Given the description of an element on the screen output the (x, y) to click on. 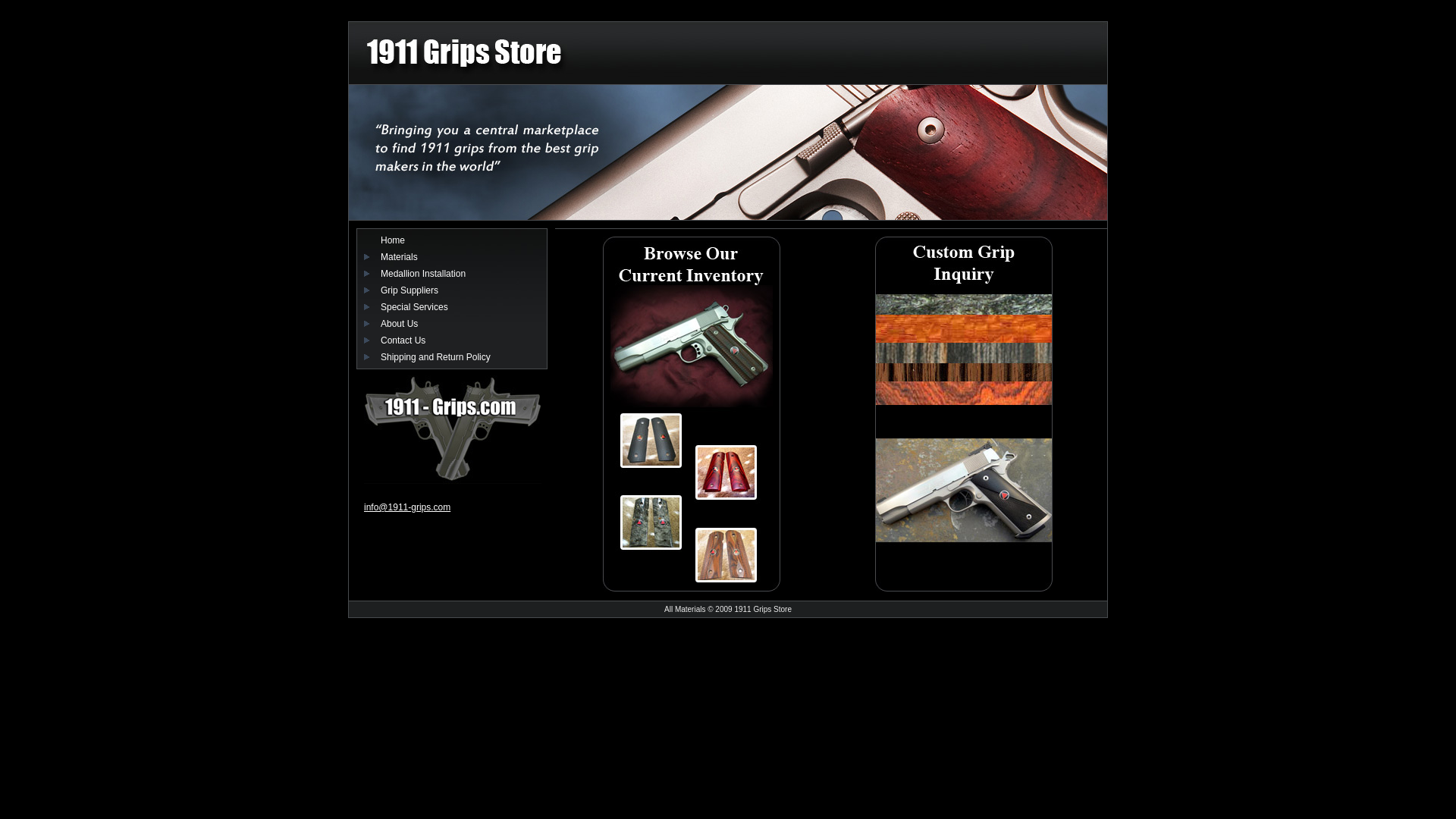
Home Element type: text (392, 240)
About Us Element type: text (398, 323)
Materials Element type: text (398, 256)
Special Services Element type: text (414, 306)
Grip Suppliers Element type: text (409, 290)
Shipping and Return Policy Element type: text (435, 356)
info@1911-grips.com Element type: text (407, 507)
Contact Us Element type: text (402, 340)
Medallion Installation Element type: text (422, 273)
